Given the description of an element on the screen output the (x, y) to click on. 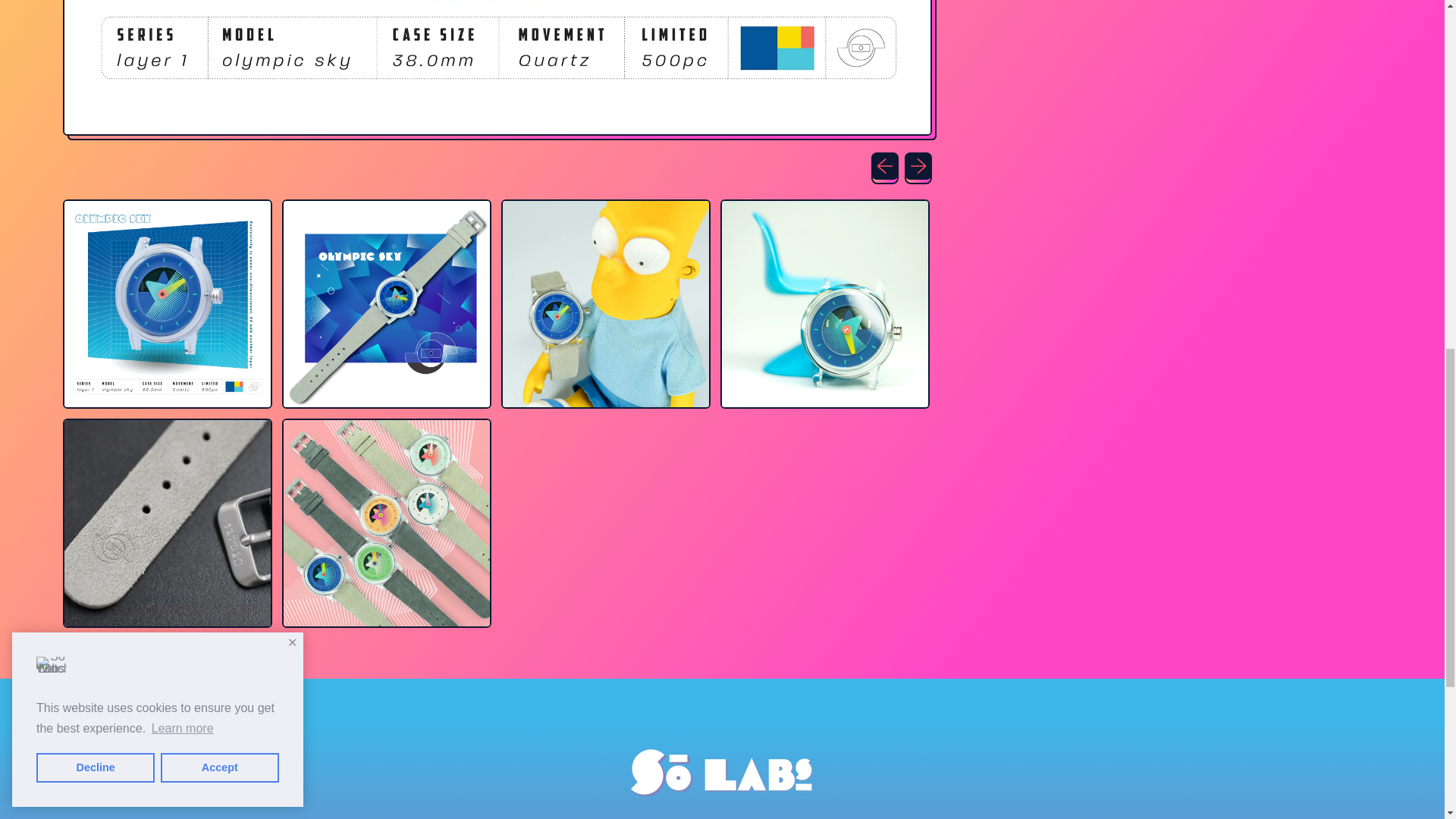
Next slide (917, 165)
Previous slide (884, 165)
